Given the description of an element on the screen output the (x, y) to click on. 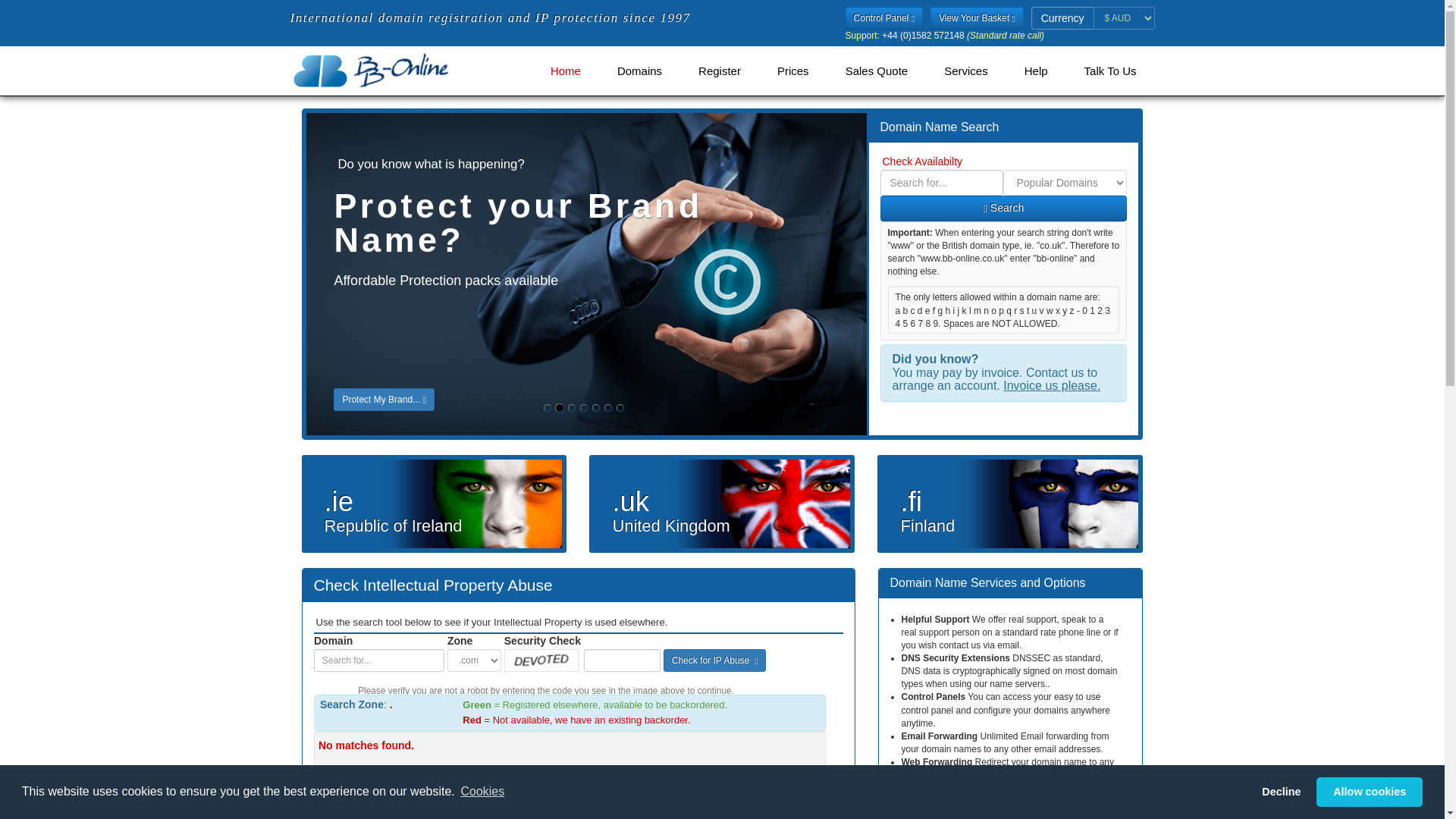
Domains (638, 70)
Control Panel (884, 17)
Control Panel (884, 17)
Decline (1281, 791)
Register (718, 70)
View your basket (976, 17)
Allow cookies (1369, 791)
View Your Basket (976, 17)
Cookies (482, 791)
Home (565, 70)
